Given the description of an element on the screen output the (x, y) to click on. 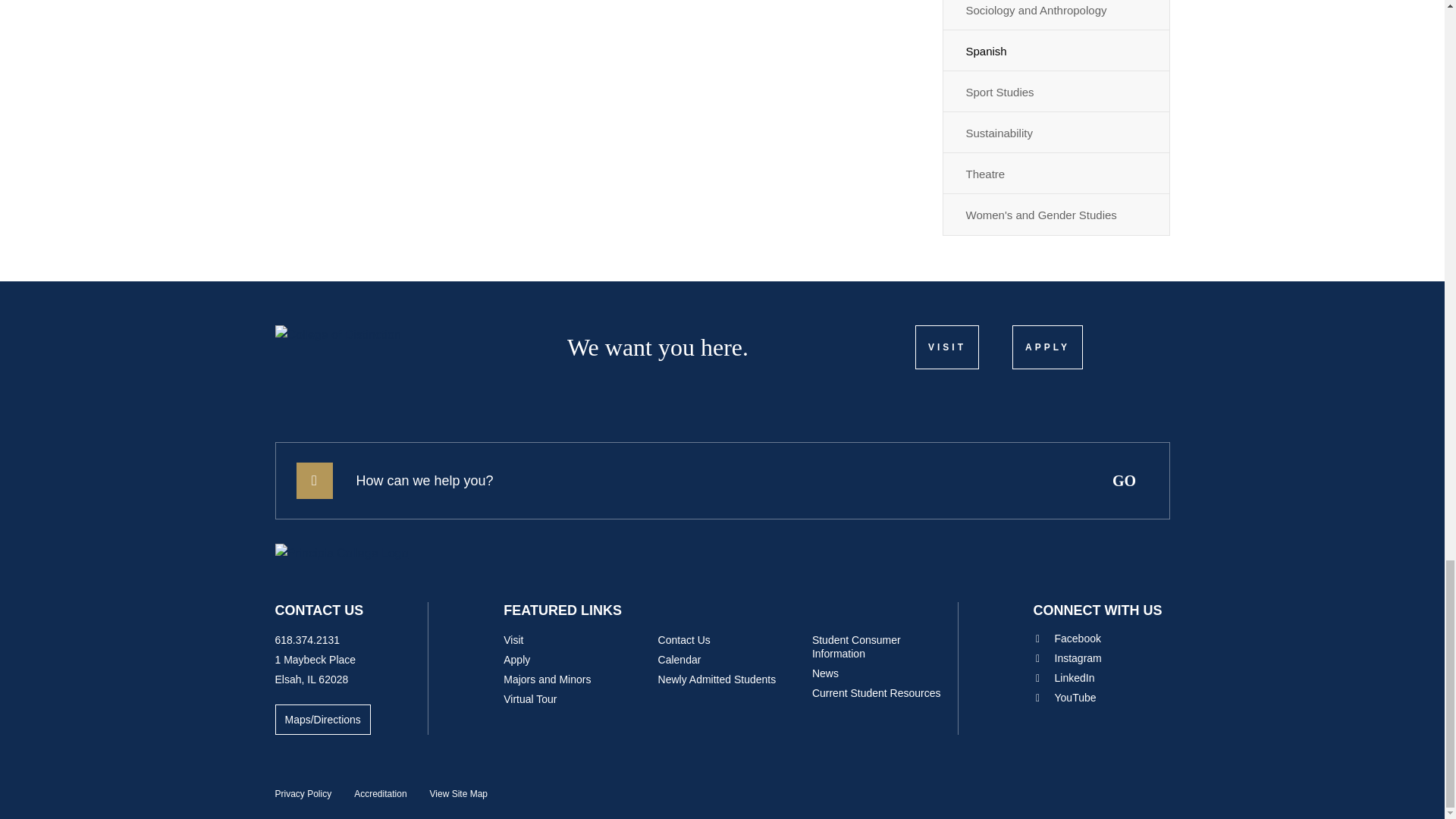
Powered by Finalsite opens in a new window (1118, 790)
